Given the description of an element on the screen output the (x, y) to click on. 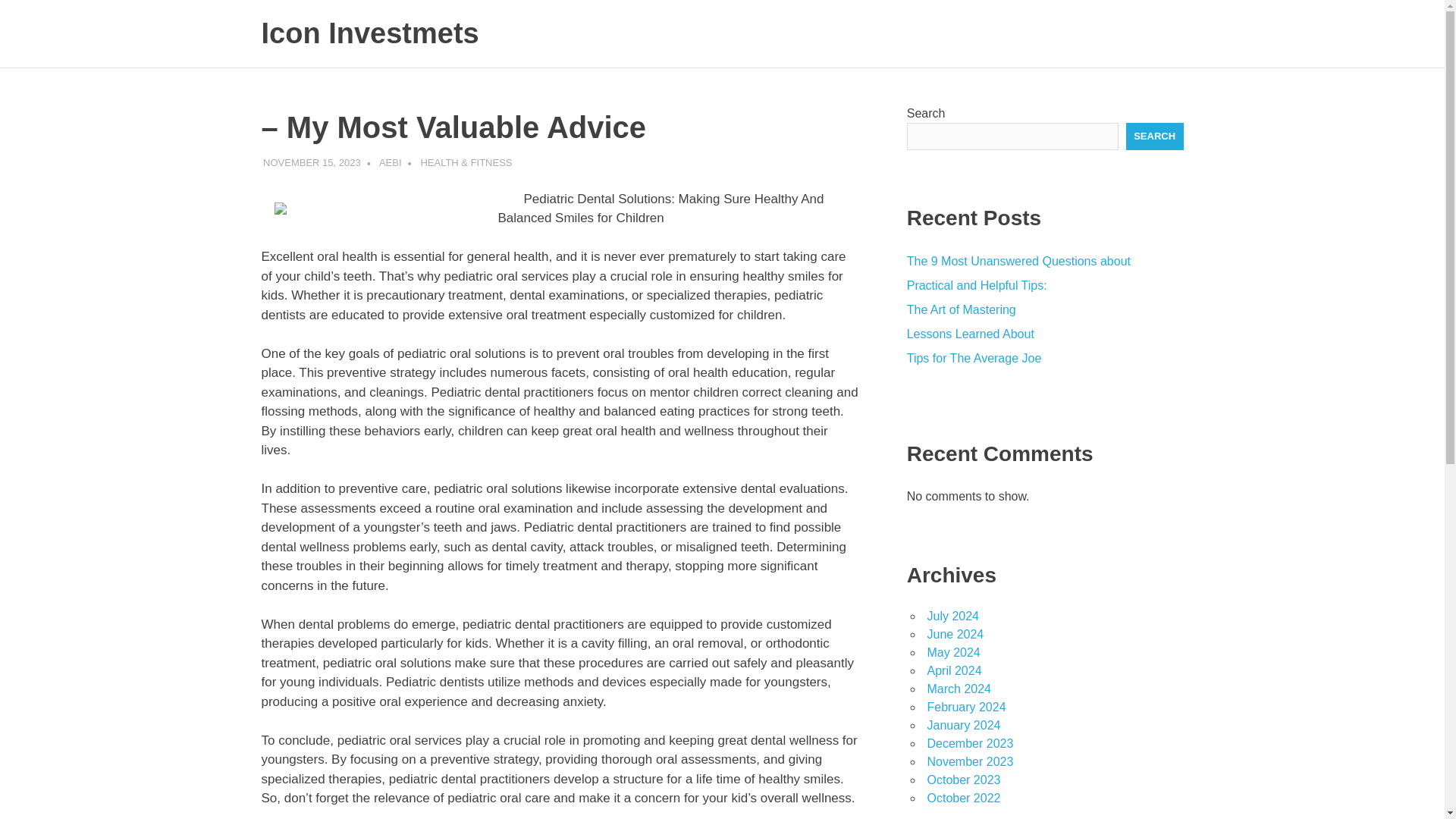
The 9 Most Unanswered Questions about (1019, 260)
Practical and Helpful Tips: (976, 285)
October 2022 (963, 797)
Lessons Learned About (970, 333)
Tips for The Average Joe (974, 358)
The Art of Mastering (961, 309)
9:33 pm (312, 161)
November 2023 (969, 761)
December 2023 (969, 743)
SEARCH (1154, 135)
View all posts by aebi (389, 161)
June 2024 (955, 634)
May 2024 (952, 652)
February 2024 (966, 707)
Icon Investmets (369, 33)
